Given the description of an element on the screen output the (x, y) to click on. 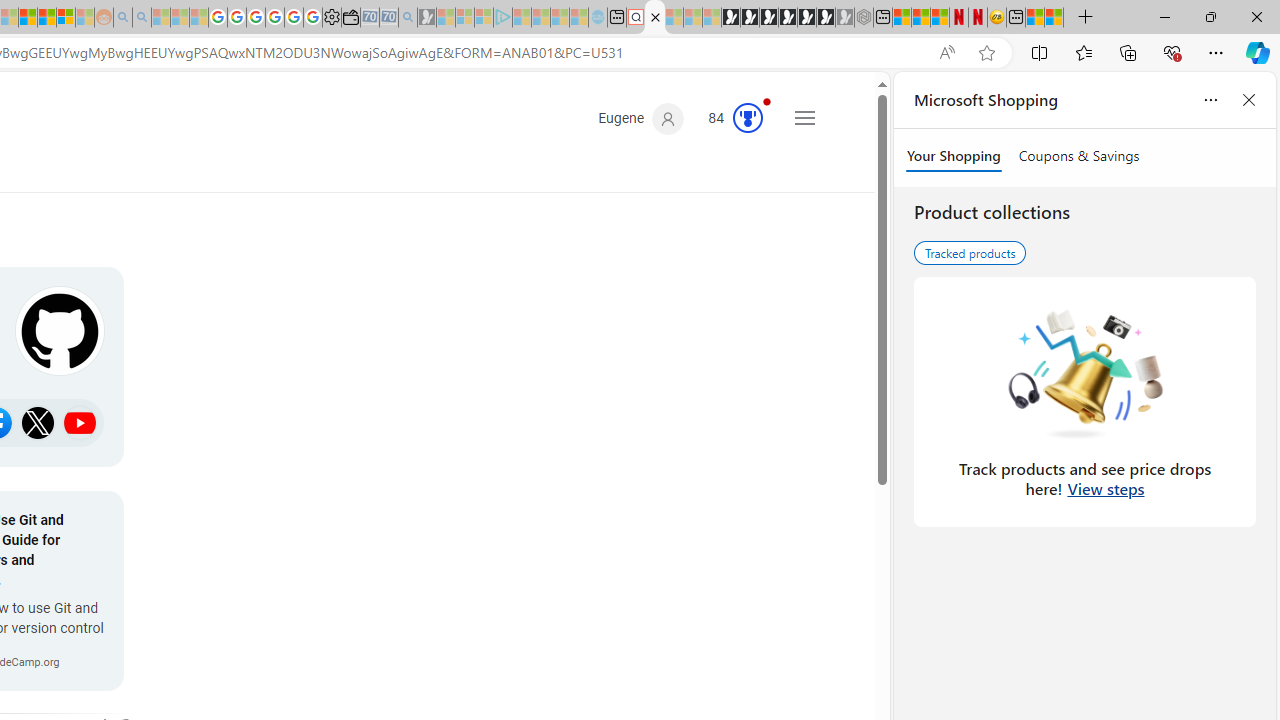
Expert Portfolios (28, 17)
Play Cave FRVR in your browser | Games from Microsoft Start (769, 17)
Cheap Car Rentals - Save70.com - Sleeping (389, 17)
Play Free Online Games | Games from Microsoft Start (730, 17)
